Given the description of an element on the screen output the (x, y) to click on. 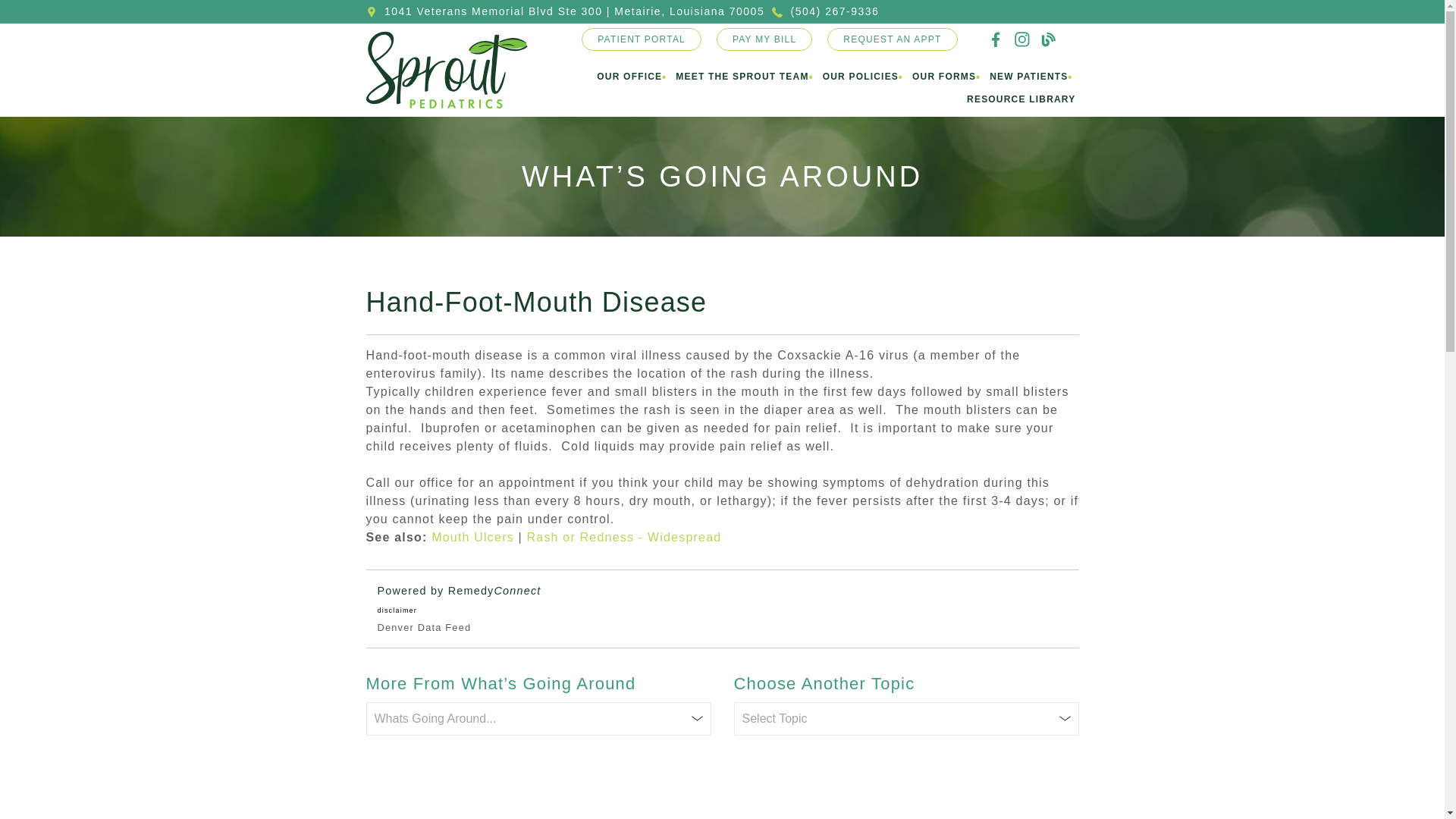
disclaimer (397, 610)
OUR OFFICE (629, 77)
OUR FORMS (943, 77)
Mouth Ulcers (471, 536)
Rash or Redness - Widespread (624, 536)
Go (13, 11)
PAY MY BILL (764, 38)
NEW PATIENTS (1028, 77)
Powered by RemedyConnect (459, 590)
MEET THE SPROUT TEAM (741, 77)
